Given the description of an element on the screen output the (x, y) to click on. 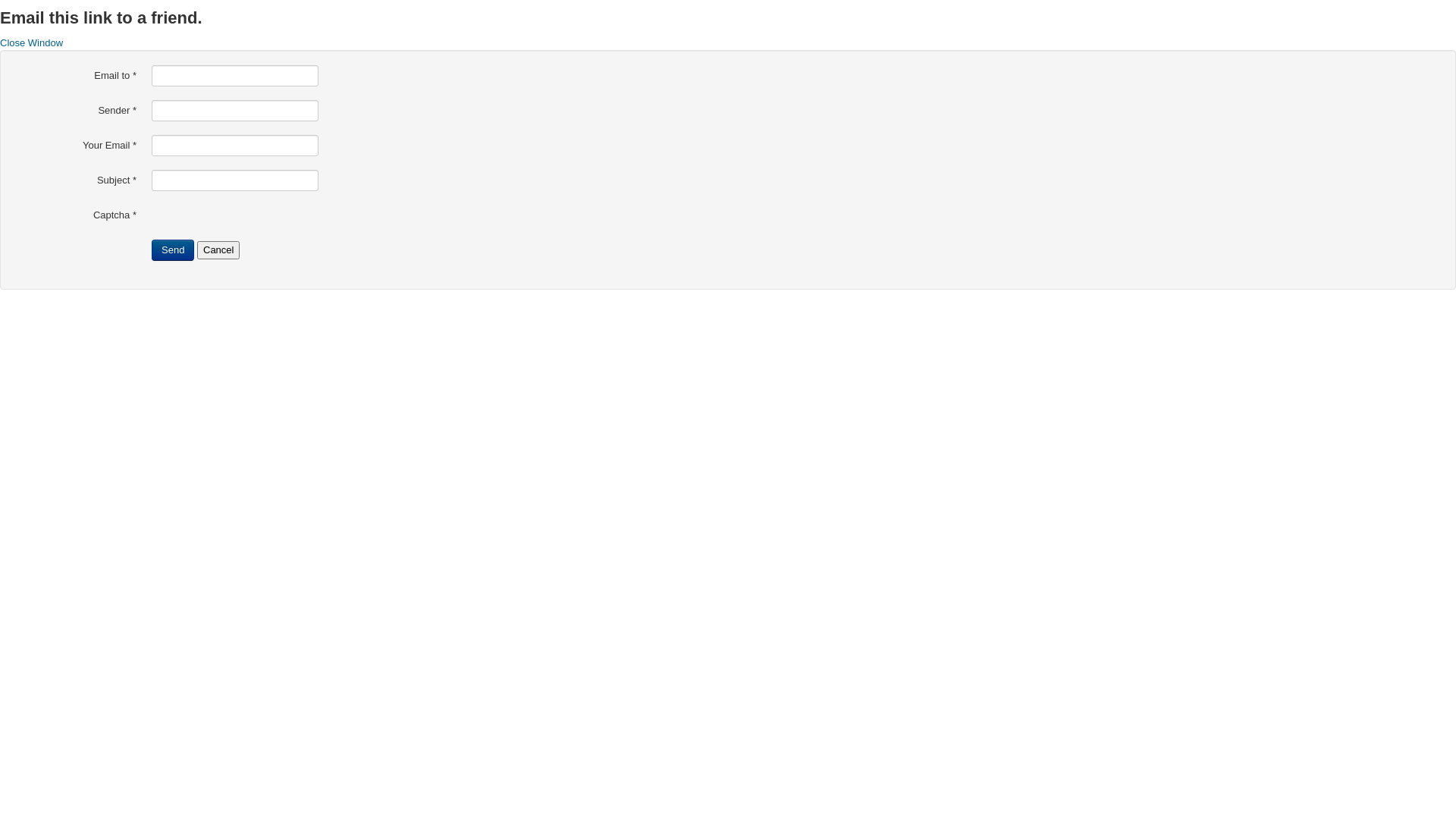
Send Element type: text (172, 249)
Cancel Element type: text (218, 250)
Close Window Element type: text (31, 42)
